Given the description of an element on the screen output the (x, y) to click on. 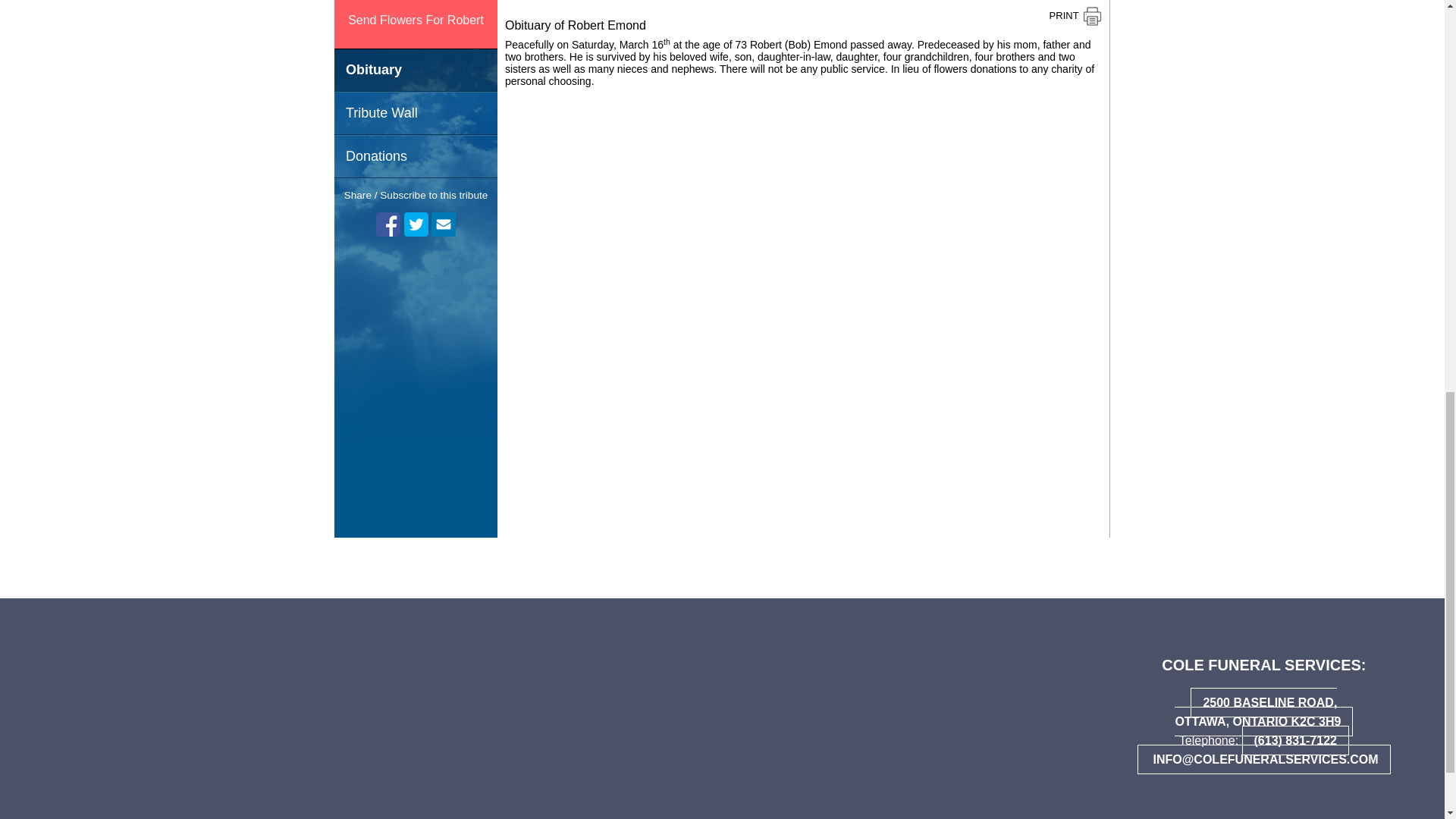
Print (1075, 15)
Twitter (415, 224)
Obituary (415, 69)
Receive Notifications (442, 224)
Send Flowers For Robert (415, 24)
Facebook (387, 224)
